Given the description of an element on the screen output the (x, y) to click on. 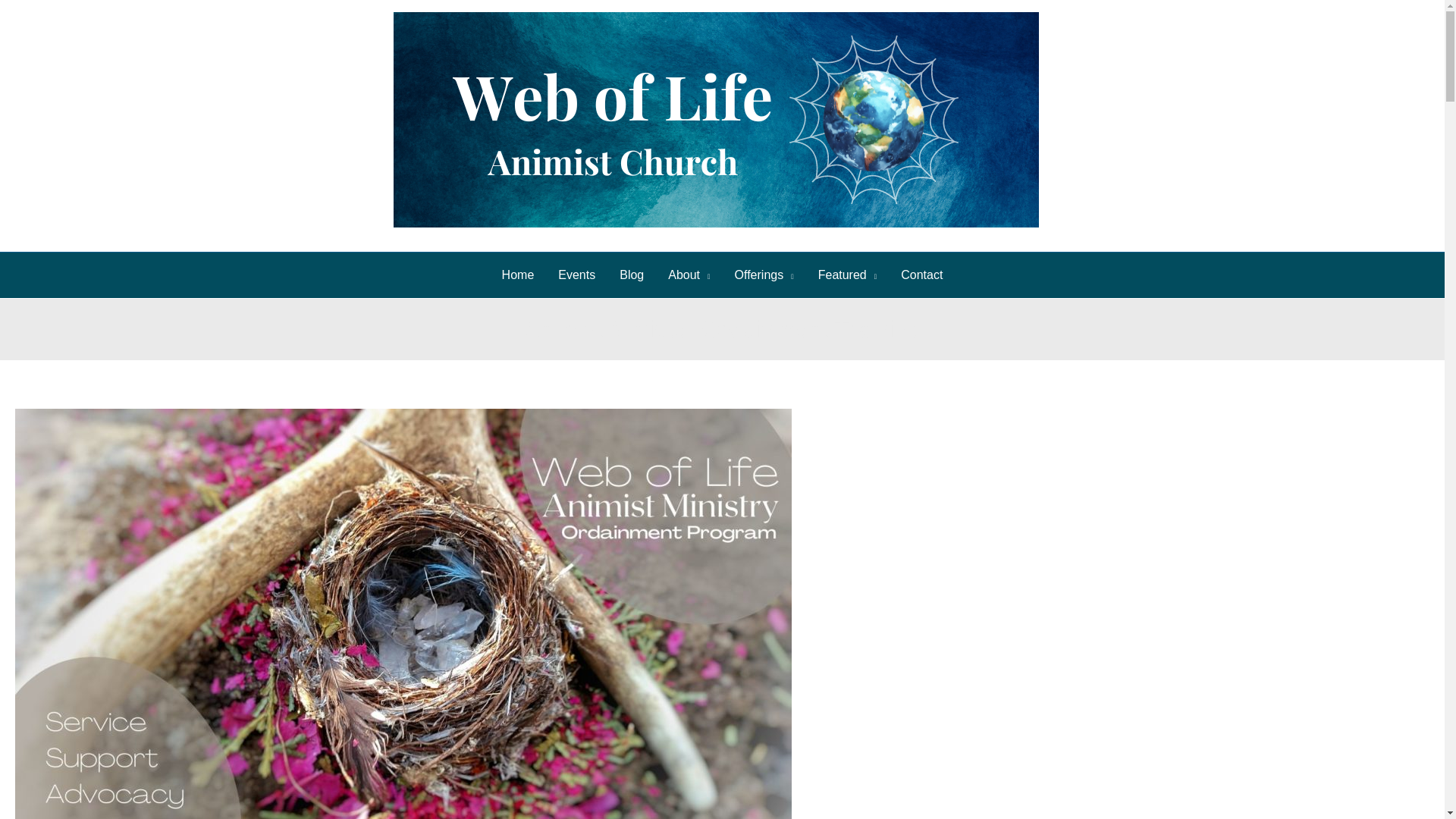
Blog (631, 275)
About (689, 275)
Offerings (764, 275)
Home (518, 275)
Events (576, 275)
